Given the description of an element on the screen output the (x, y) to click on. 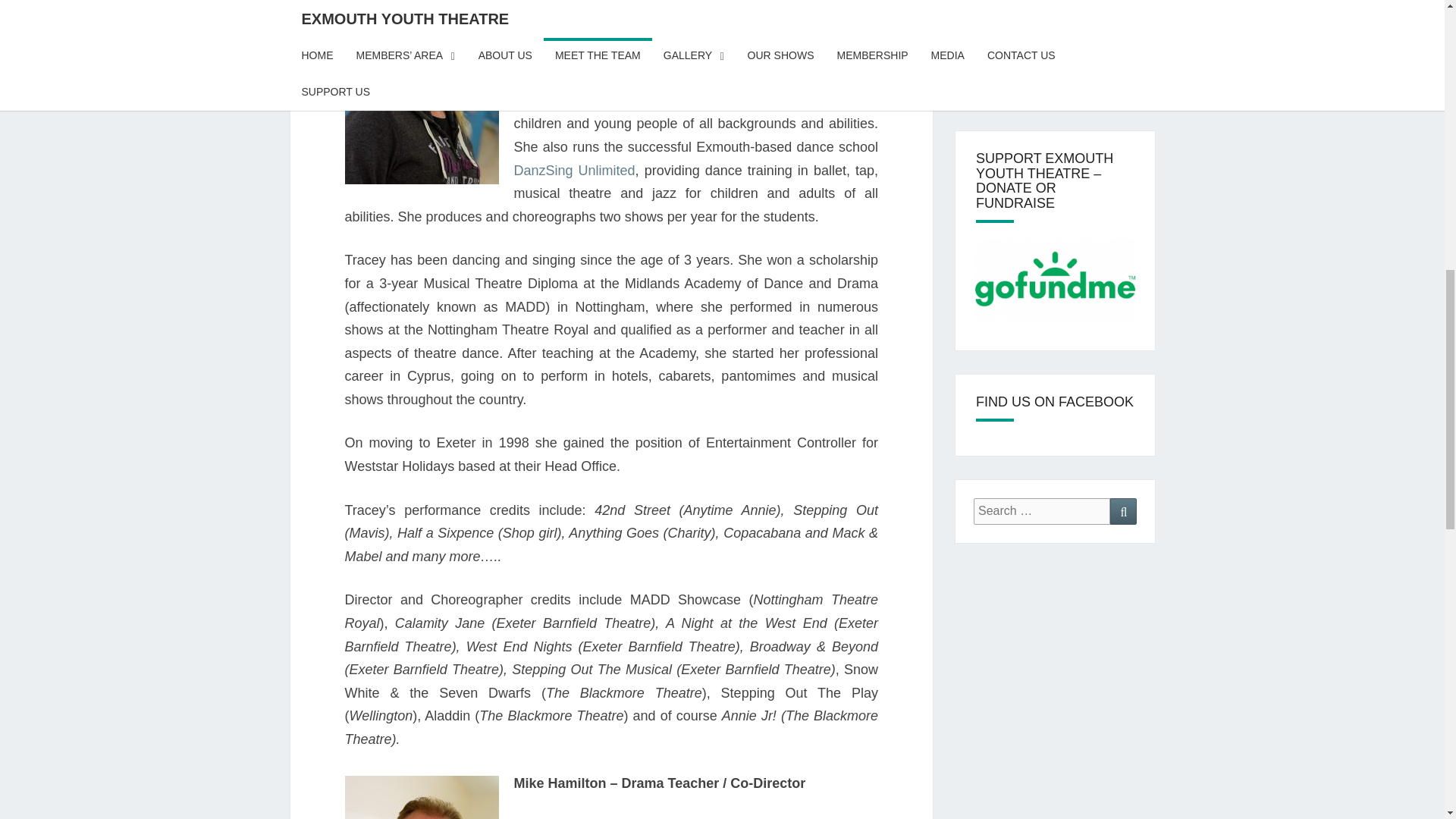
Search (1123, 510)
Exmouth Youth Theatre (696, 65)
DanzSing Unlimited (573, 170)
Search for: (1041, 510)
SCHOOL OF ROCK - JUNE 2023 - BOOK NOW! (1054, 38)
